Given the description of an element on the screen output the (x, y) to click on. 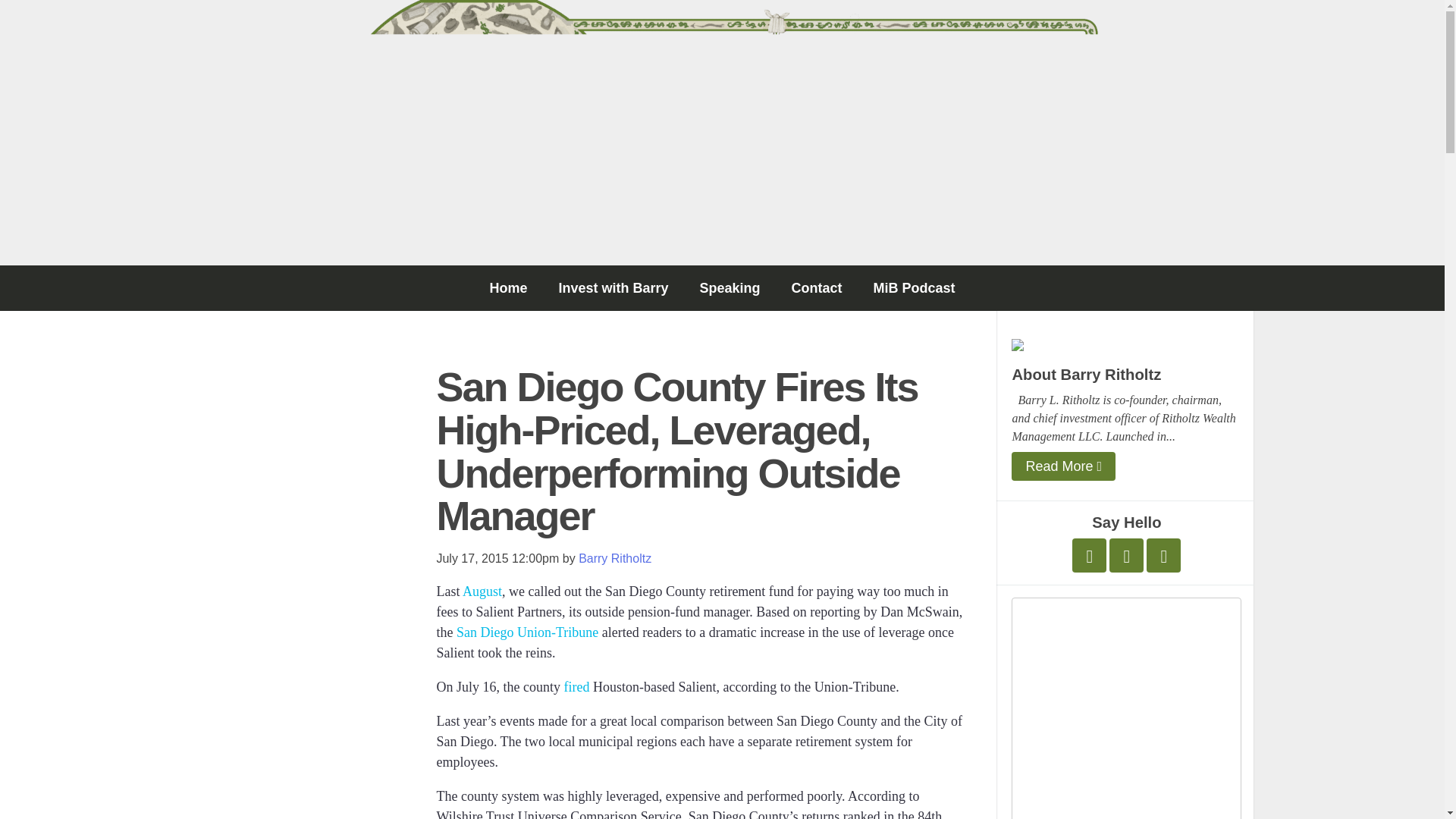
Home (508, 288)
San Diego Union-Tribune (527, 631)
Barry Ritholtz (614, 558)
Invest with Barry (612, 288)
MiB Podcast (914, 288)
Contact (816, 288)
Twitter (1088, 555)
Read More (1063, 466)
LinkedIn (1163, 555)
Posts by Barry Ritholtz (614, 558)
fired (576, 686)
August (482, 590)
Facebook (1125, 555)
Speaking (729, 288)
